Given the description of an element on the screen output the (x, y) to click on. 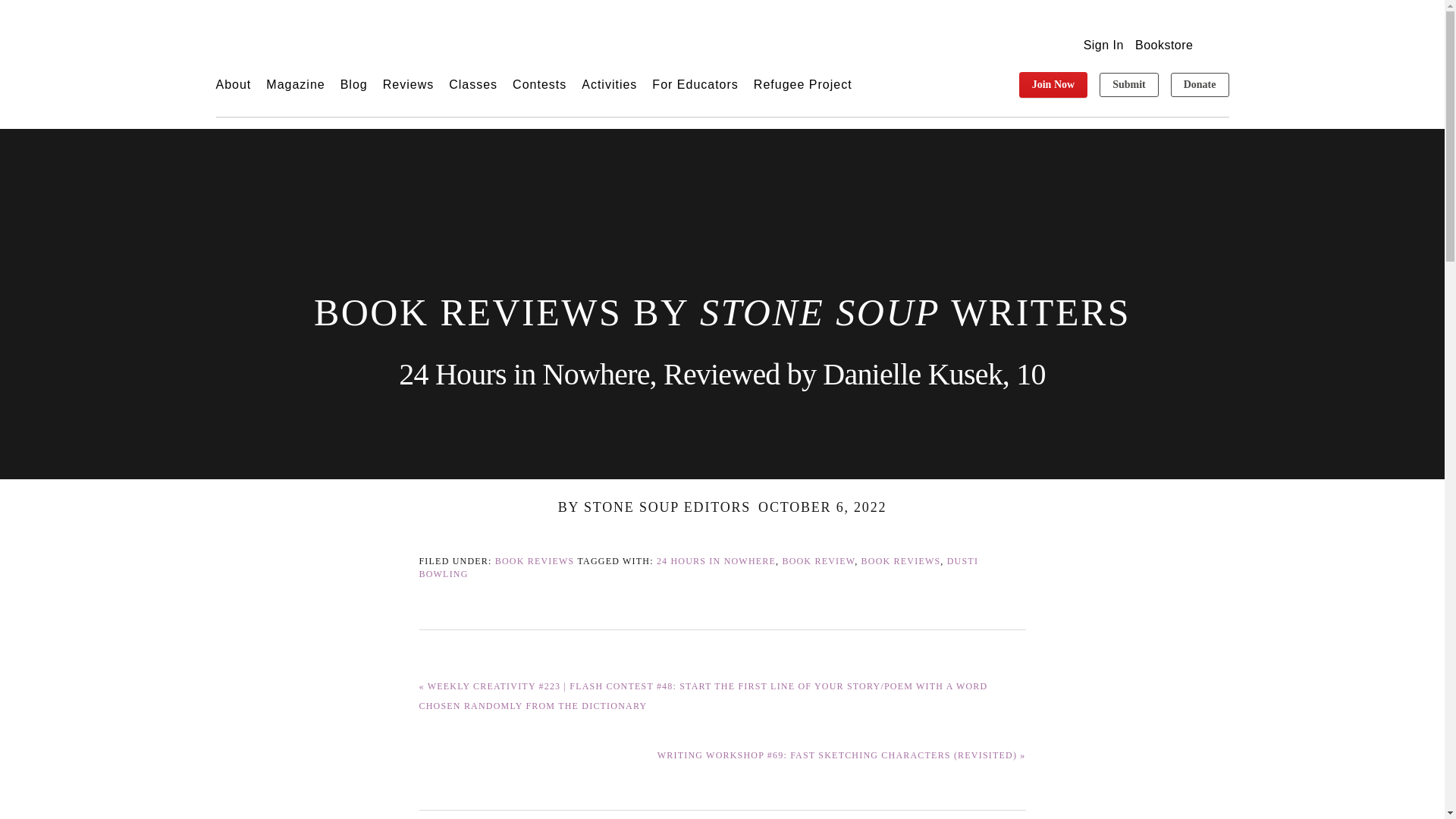
Join Now (1053, 84)
Submit (1128, 84)
Activities (608, 85)
Donate (1199, 84)
Bookstore (1164, 44)
For Educators (695, 85)
Classes (472, 85)
Reviews (407, 85)
About (232, 85)
